Given the description of an element on the screen output the (x, y) to click on. 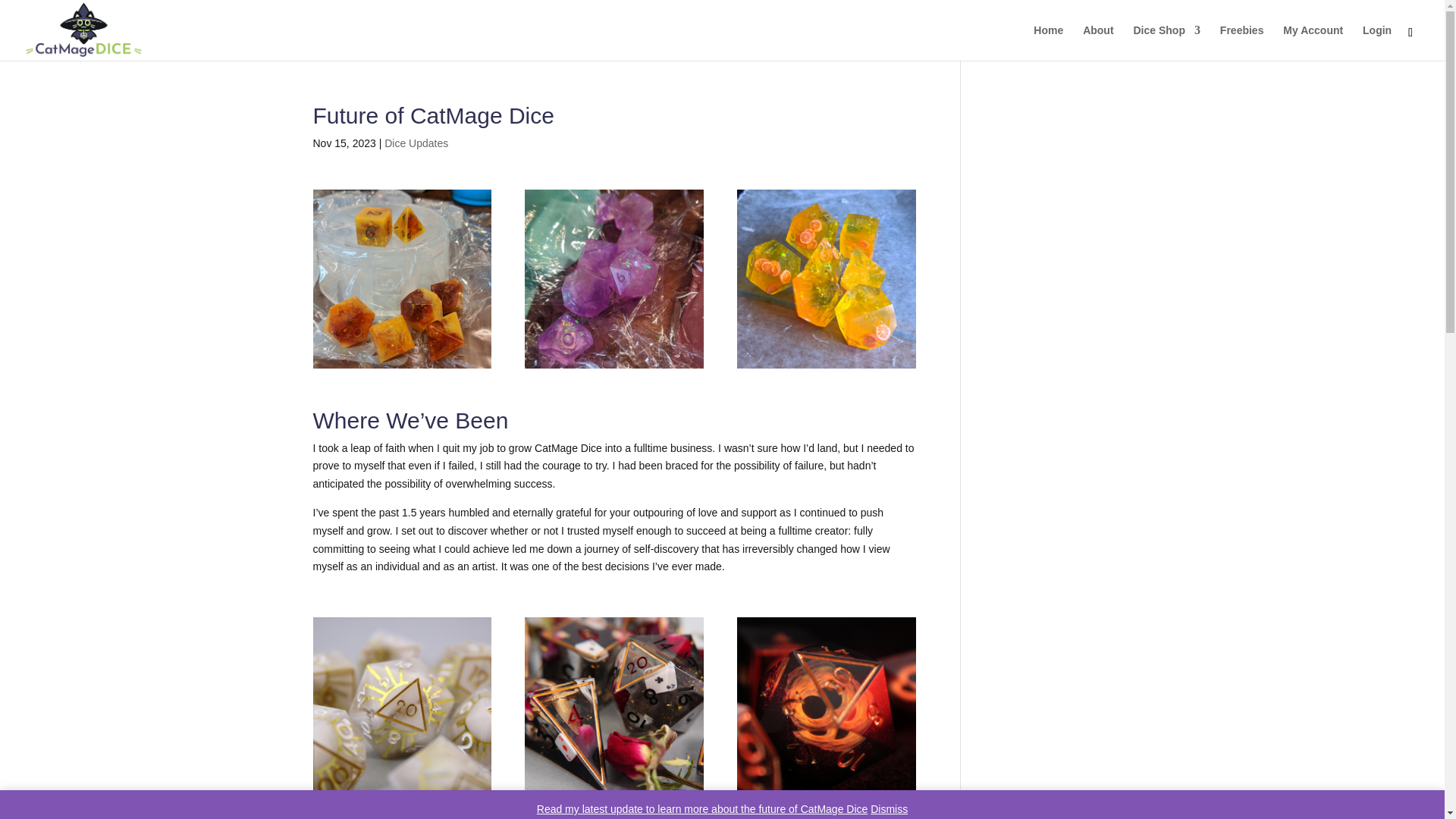
Dismiss (888, 808)
later-dice1 (613, 706)
My Account (1312, 42)
earlydice-1 (402, 278)
Dice Shop (1165, 42)
Dice Updates (416, 143)
laterdice-3 (825, 706)
Freebies (1241, 42)
laterdice-2 (402, 706)
earlydice-2 (613, 278)
earlydice-4 (825, 278)
